Given the description of an element on the screen output the (x, y) to click on. 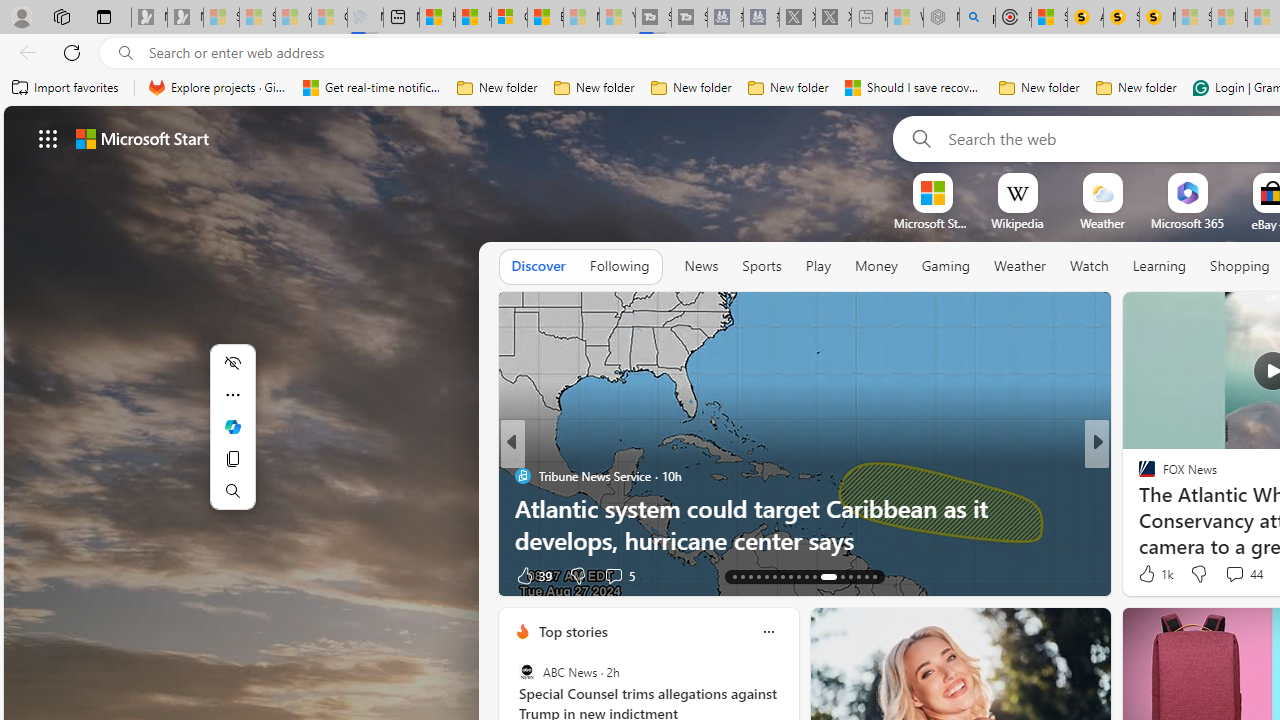
Mini menu on text selection (232, 426)
Ask Copilot (232, 426)
Nordace - Summer Adventures 2024 - Sleeping (941, 17)
View comments 191 Comment (11, 575)
Hide menu (232, 362)
View comments 4 Comment (618, 574)
AutomationID: tab-15 (750, 576)
